Given the description of an element on the screen output the (x, y) to click on. 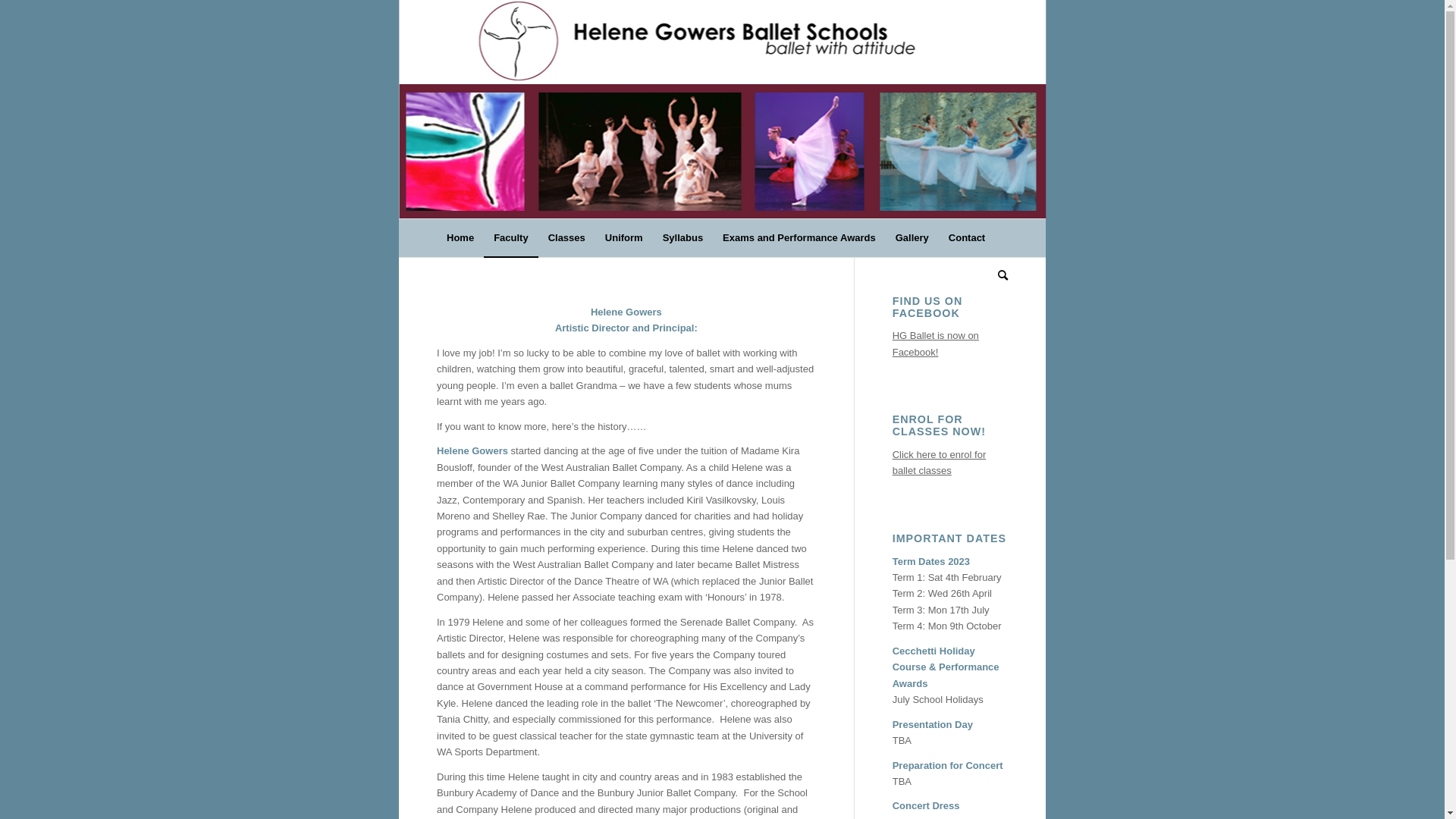
hgballet-header-2016 Element type: hover (721, 109)
Gallery Element type: text (911, 238)
Classes Element type: text (566, 238)
Home Element type: text (459, 238)
Uniform Element type: text (623, 238)
Click here to enrol for ballet classes Element type: text (939, 462)
Contact Element type: text (966, 238)
HG Ballet is now on Facebook! Element type: text (935, 343)
Syllabus Element type: text (682, 238)
Exams and Performance Awards Element type: text (798, 238)
Faculty Element type: text (510, 238)
